Given the description of an element on the screen output the (x, y) to click on. 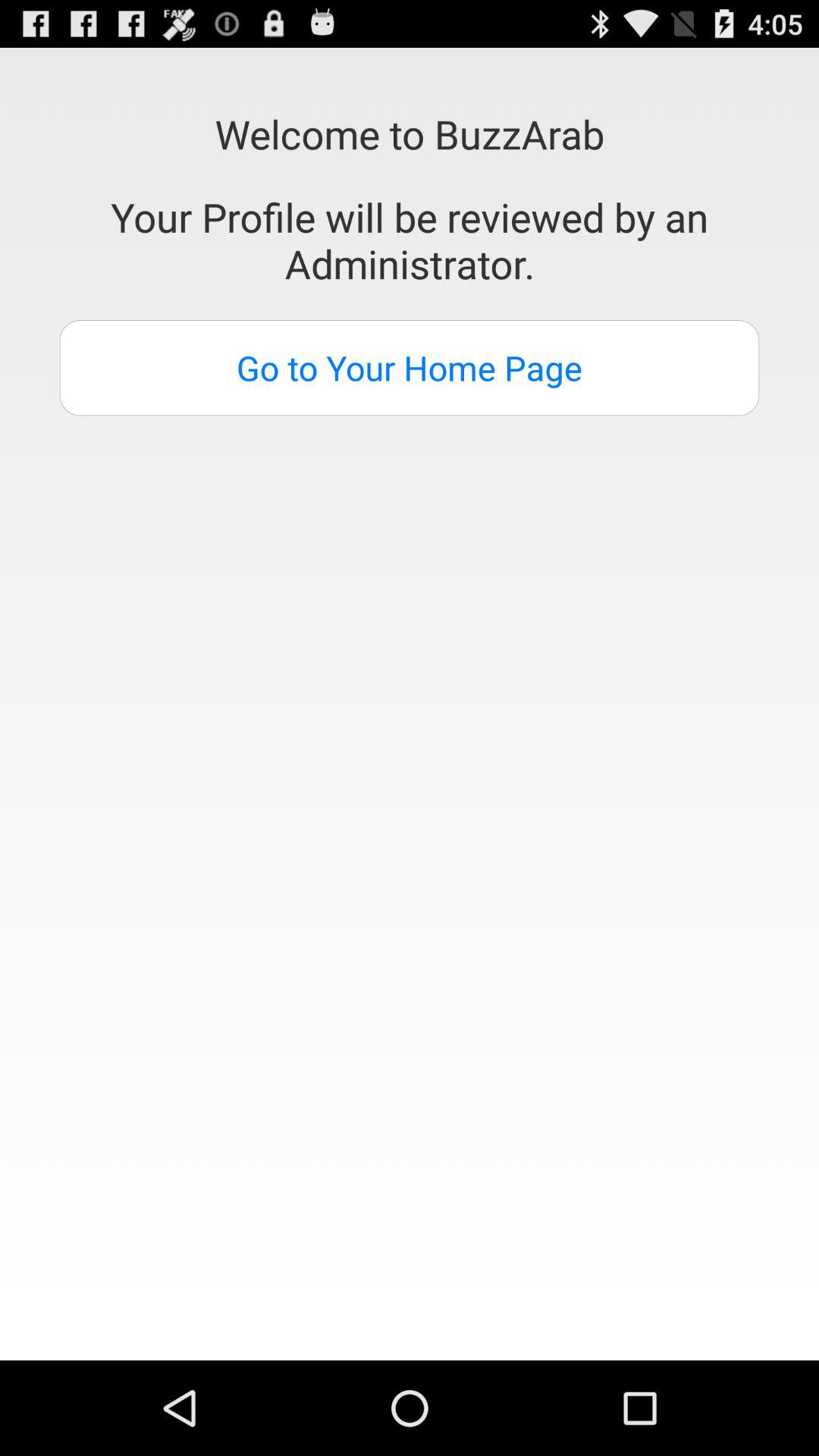
flip until the go to your icon (409, 367)
